Given the description of an element on the screen output the (x, y) to click on. 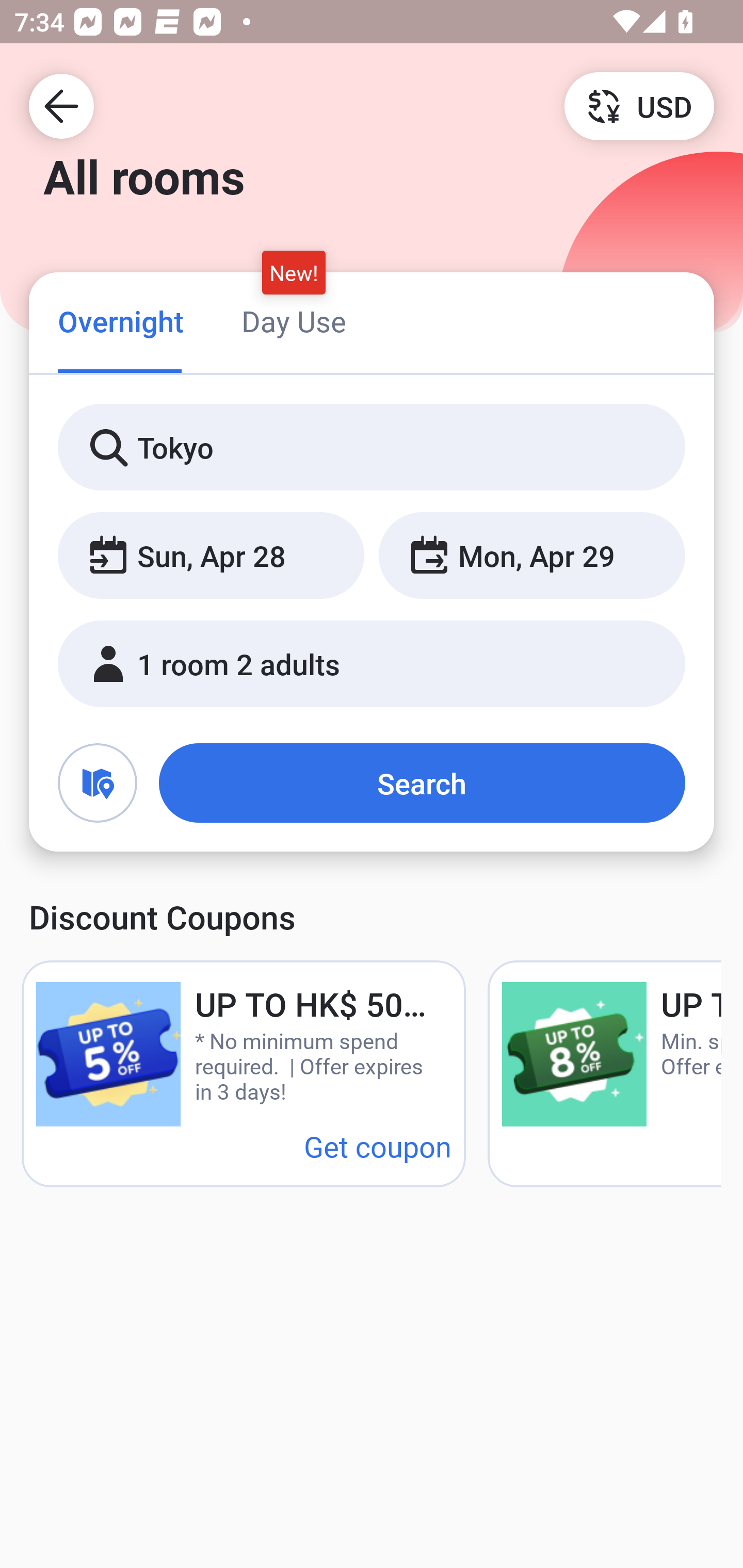
USD (639, 105)
New! (294, 272)
Day Use (293, 321)
Tokyo (371, 447)
Sun, Apr 28 (210, 555)
Mon, Apr 29 (531, 555)
1 room 2 adults (371, 663)
Search (422, 783)
Get coupon (377, 1146)
